Given the description of an element on the screen output the (x, y) to click on. 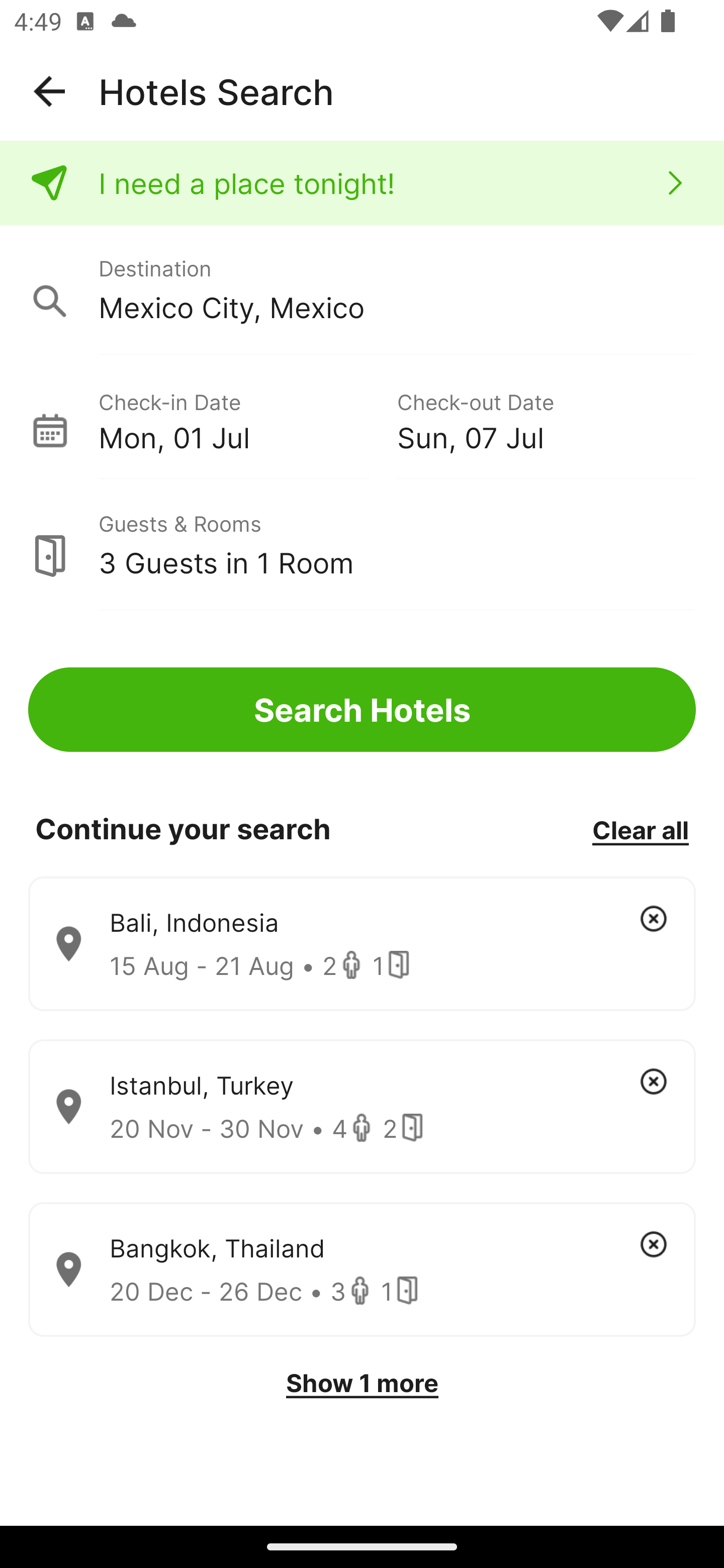
I need a place tonight! (362, 183)
Destination Mexico City, Mexico (362, 290)
Check-in Date Mon, 01 Jul (247, 418)
Check-out Date Sun, 07 Jul (546, 418)
Guests & Rooms 3 Guests in 1 Room (362, 545)
Search Hotels (361, 709)
Clear all (640, 829)
Bali, Indonesia 15 Aug - 21 Aug • 2  1  (361, 943)
Istanbul, Turkey 20 Nov - 30 Nov • 4  2  (361, 1106)
Bangkok, Thailand 20 Dec - 26 Dec • 3  1  (361, 1269)
Show 1 more (362, 1382)
